Given the description of an element on the screen output the (x, y) to click on. 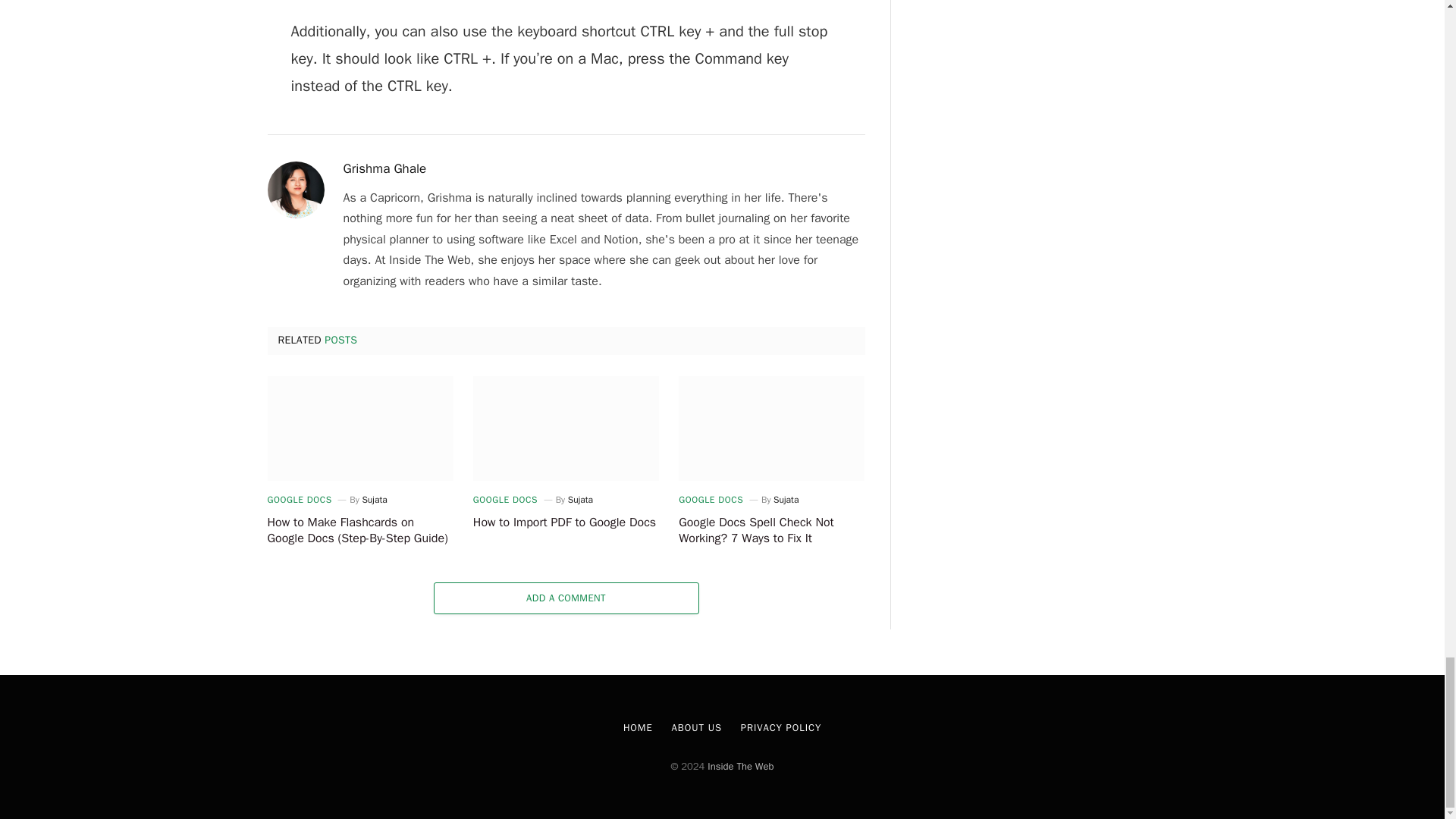
GOOGLE DOCS (505, 499)
Posts by Grishma Ghale (384, 168)
GOOGLE DOCS (710, 499)
Grishma Ghale (384, 168)
How to Import PDF to Google Docs (566, 523)
Posts by Sujata (785, 499)
How to Import PDF to Google Docs (566, 427)
Google Docs Spell Check Not Working? 7 Ways to Fix It (771, 427)
Sujata (579, 499)
Posts by Sujata (374, 499)
GOOGLE DOCS (298, 499)
Sujata (374, 499)
Sujata (785, 499)
Posts by Sujata (579, 499)
